Given the description of an element on the screen output the (x, y) to click on. 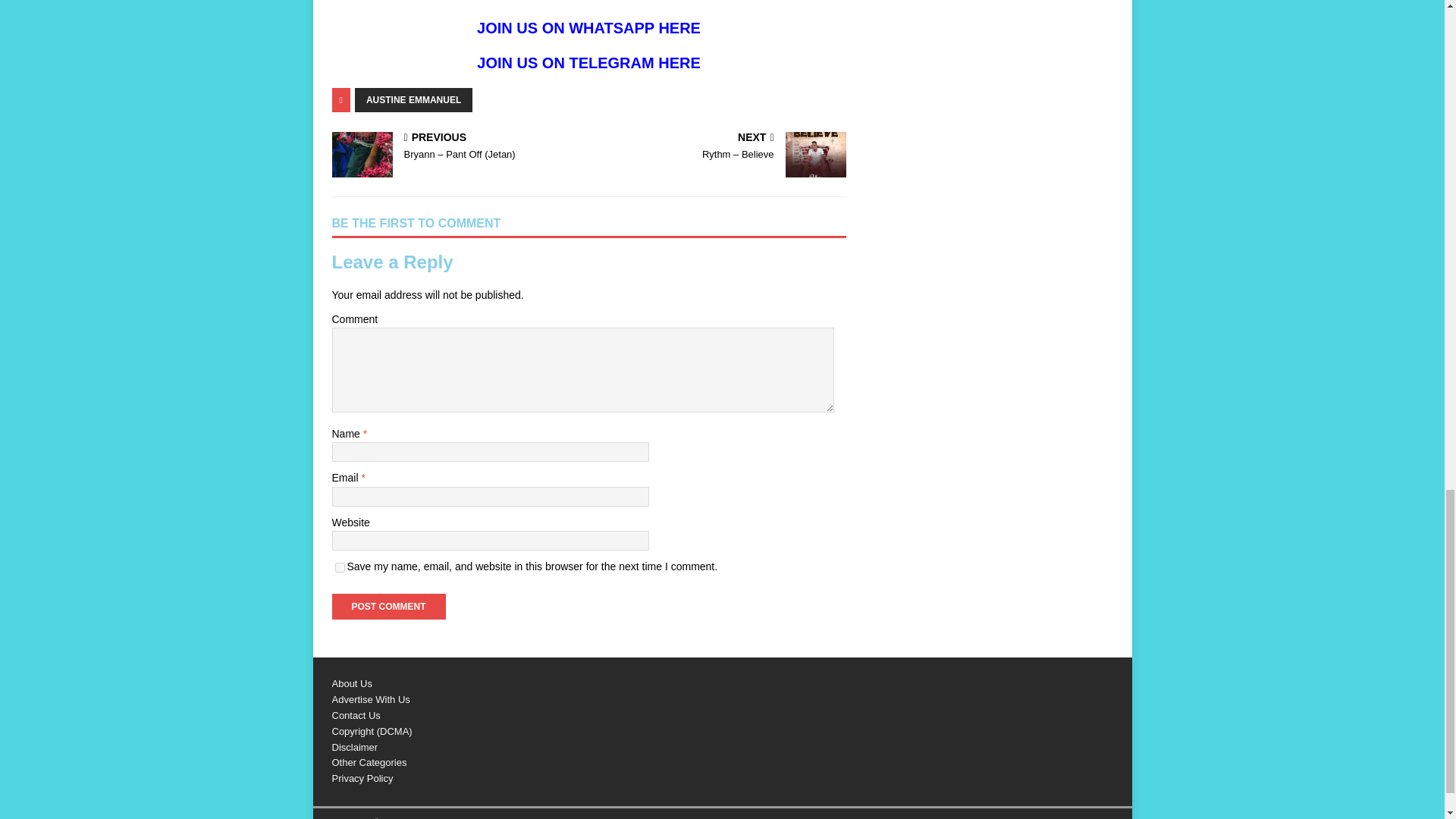
JOIN US ON TELEGRAM HERE (588, 62)
yes (339, 567)
JOIN US ON WHATSAPP HERE (588, 27)
Post Comment (388, 606)
